Given the description of an element on the screen output the (x, y) to click on. 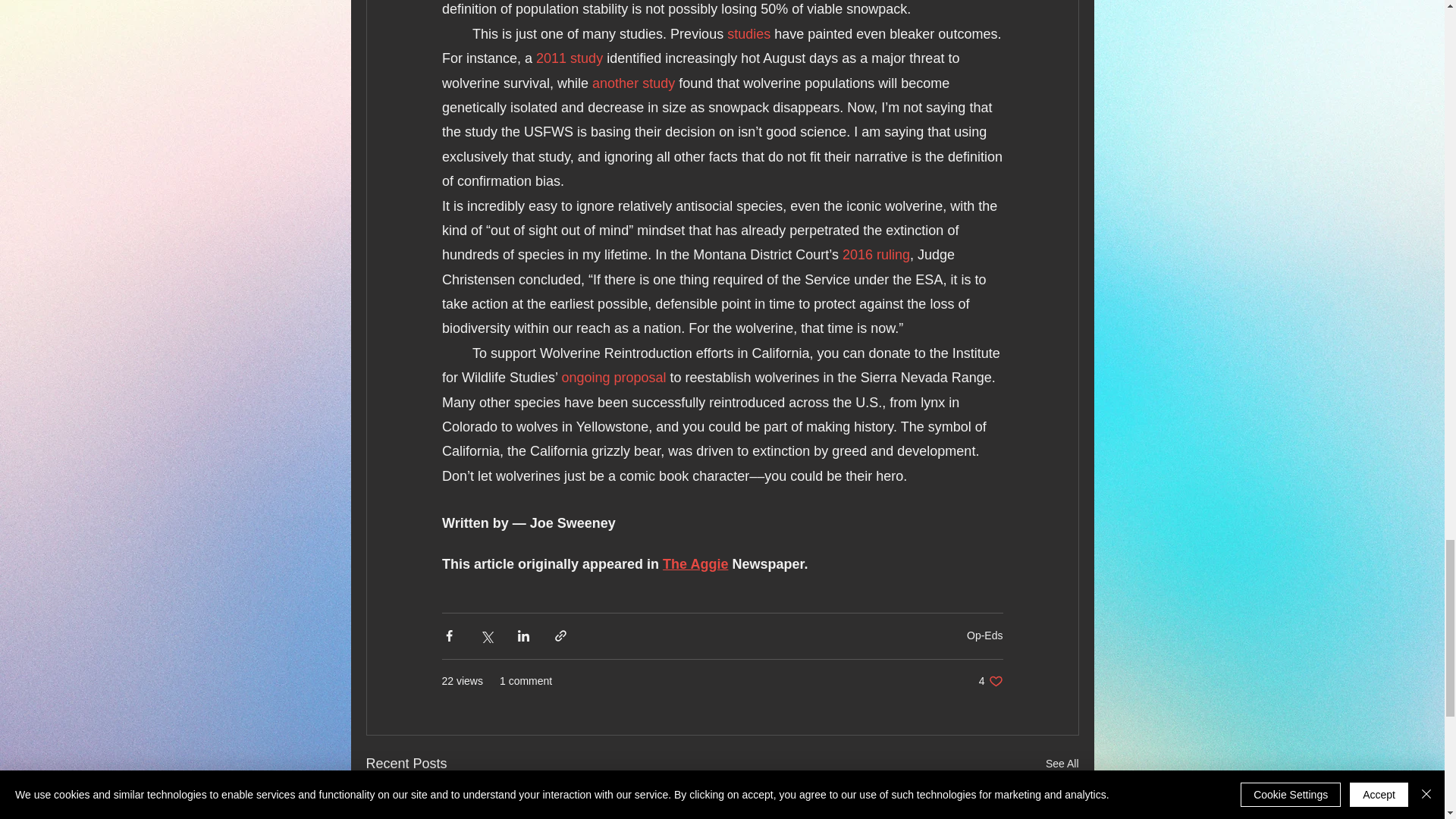
studies (748, 33)
The Aggie (695, 563)
ongoing proposal (612, 377)
2016 ruling (874, 254)
another study (990, 681)
See All (633, 83)
Op-Eds (1061, 763)
2011 study (984, 635)
